Given the description of an element on the screen output the (x, y) to click on. 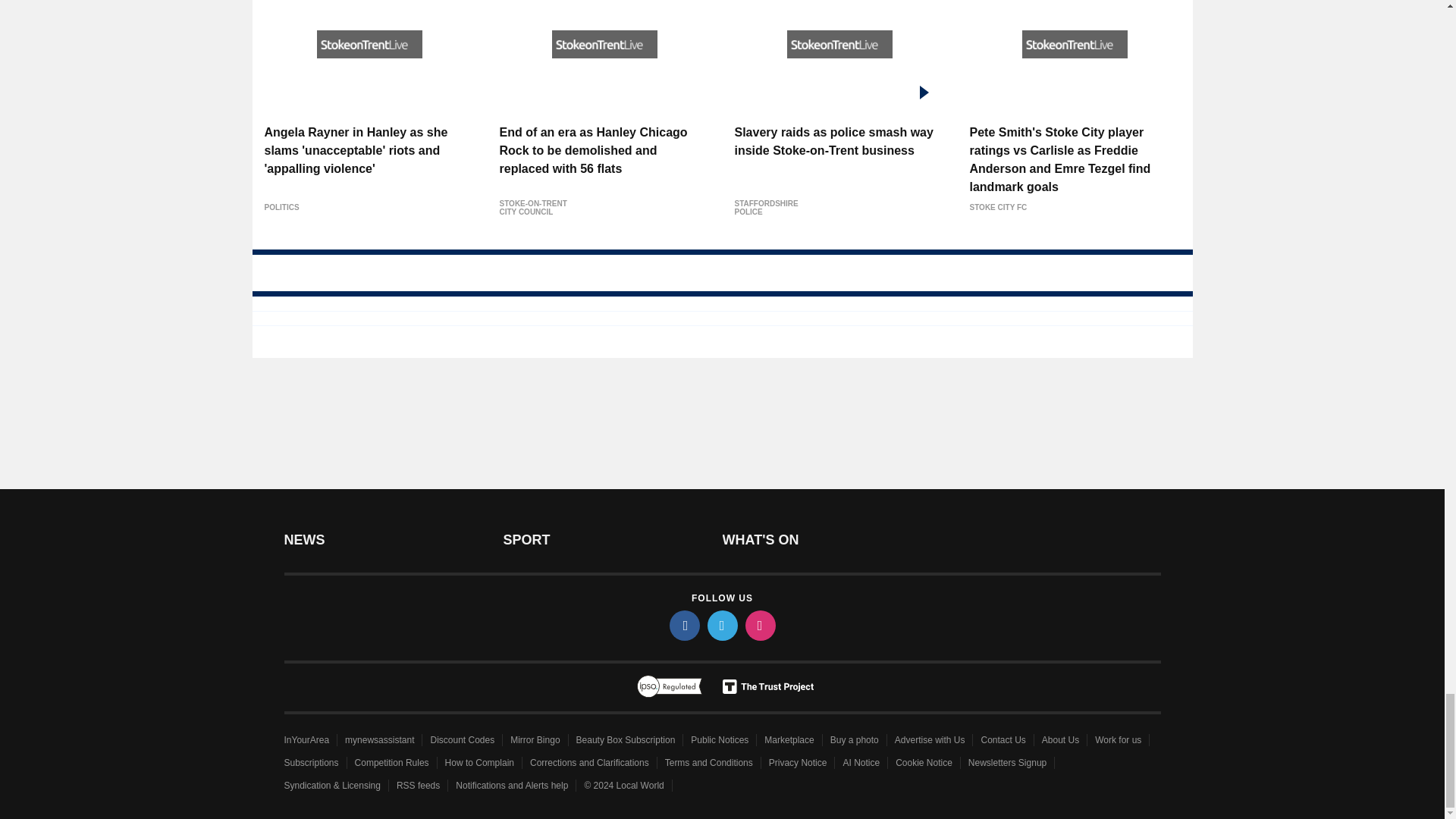
twitter (721, 625)
facebook (683, 625)
instagram (759, 625)
